Given the description of an element on the screen output the (x, y) to click on. 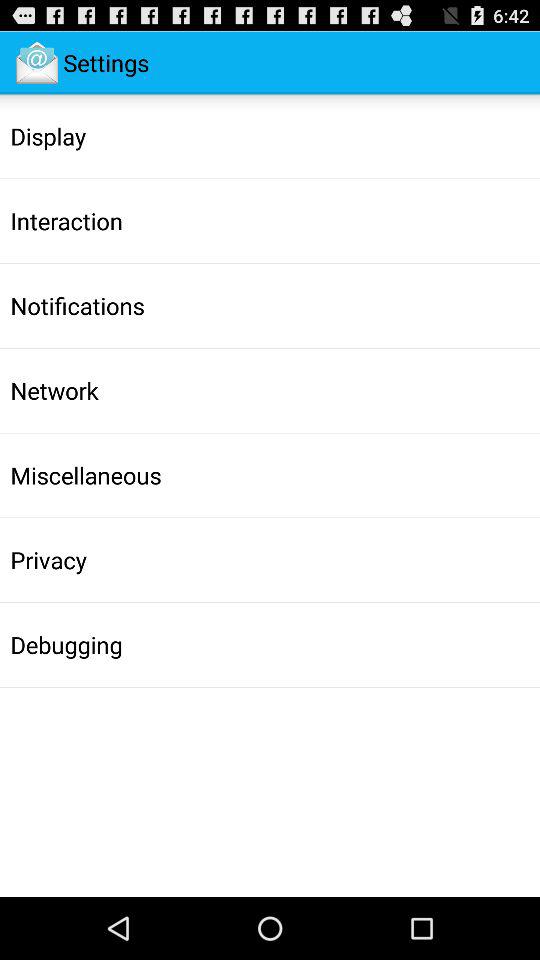
press the icon below the network icon (85, 475)
